Given the description of an element on the screen output the (x, y) to click on. 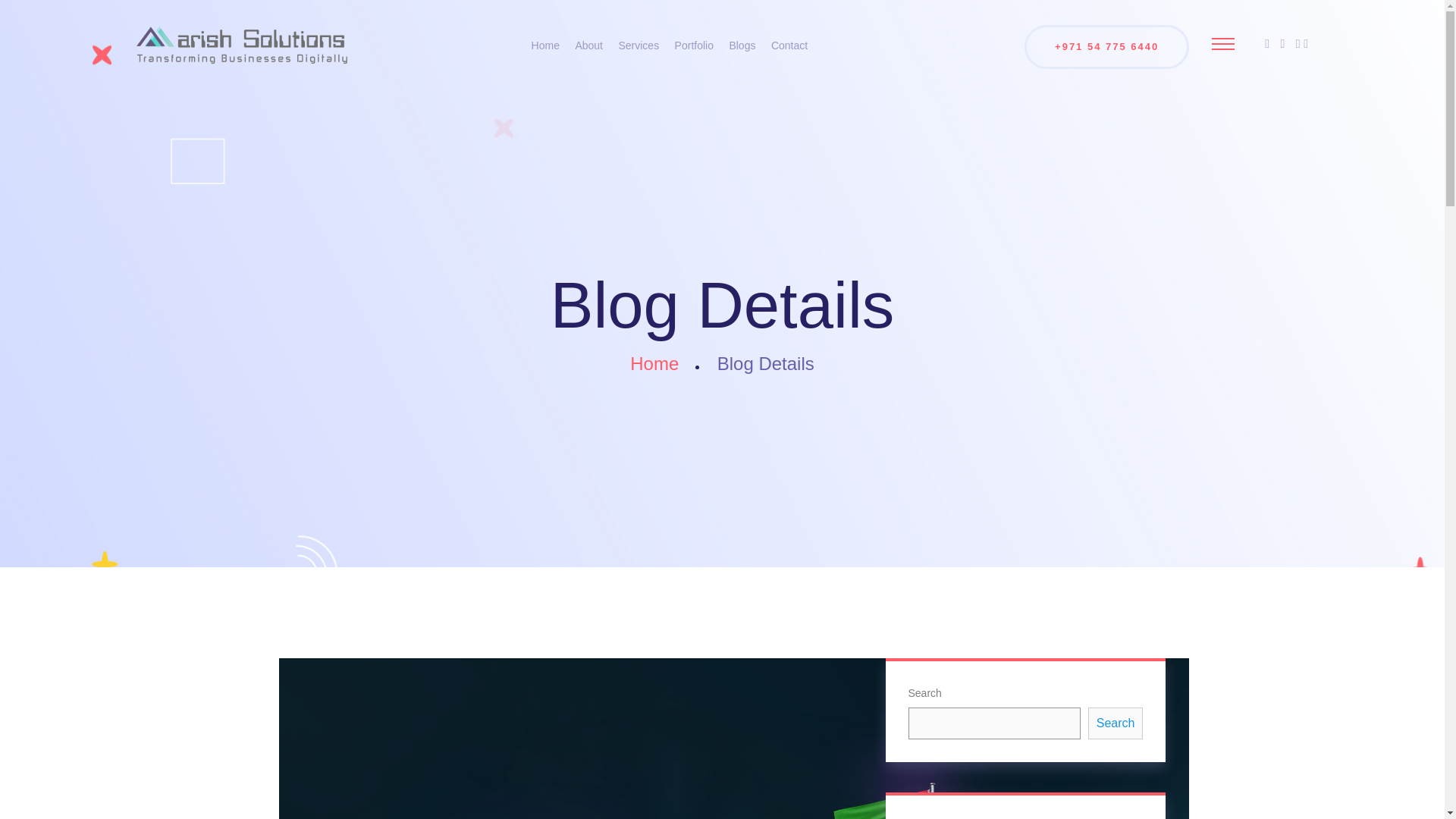
Search (1114, 723)
Home (654, 362)
